Given the description of an element on the screen output the (x, y) to click on. 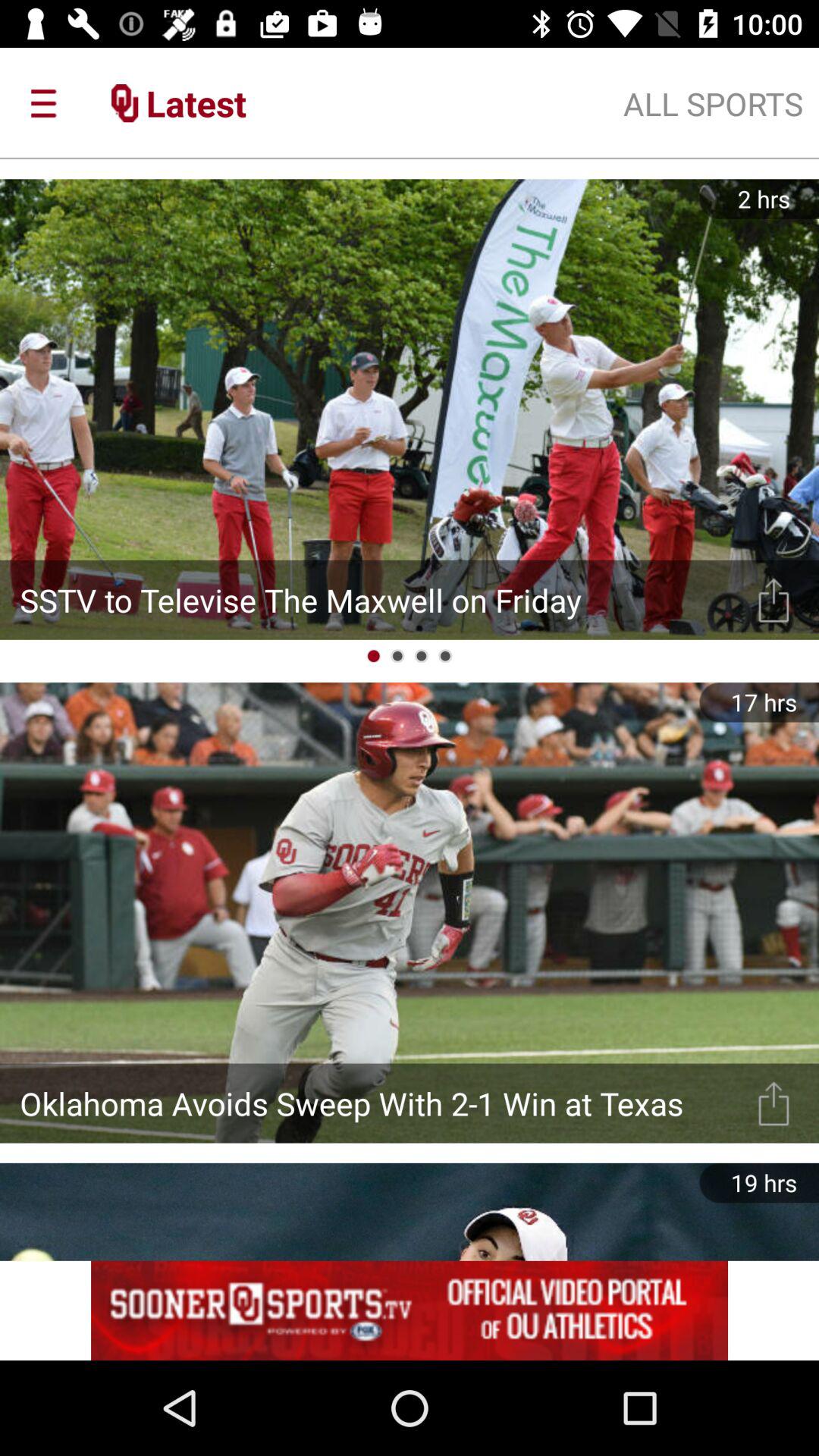
open advertisement (409, 1310)
